Given the description of an element on the screen output the (x, y) to click on. 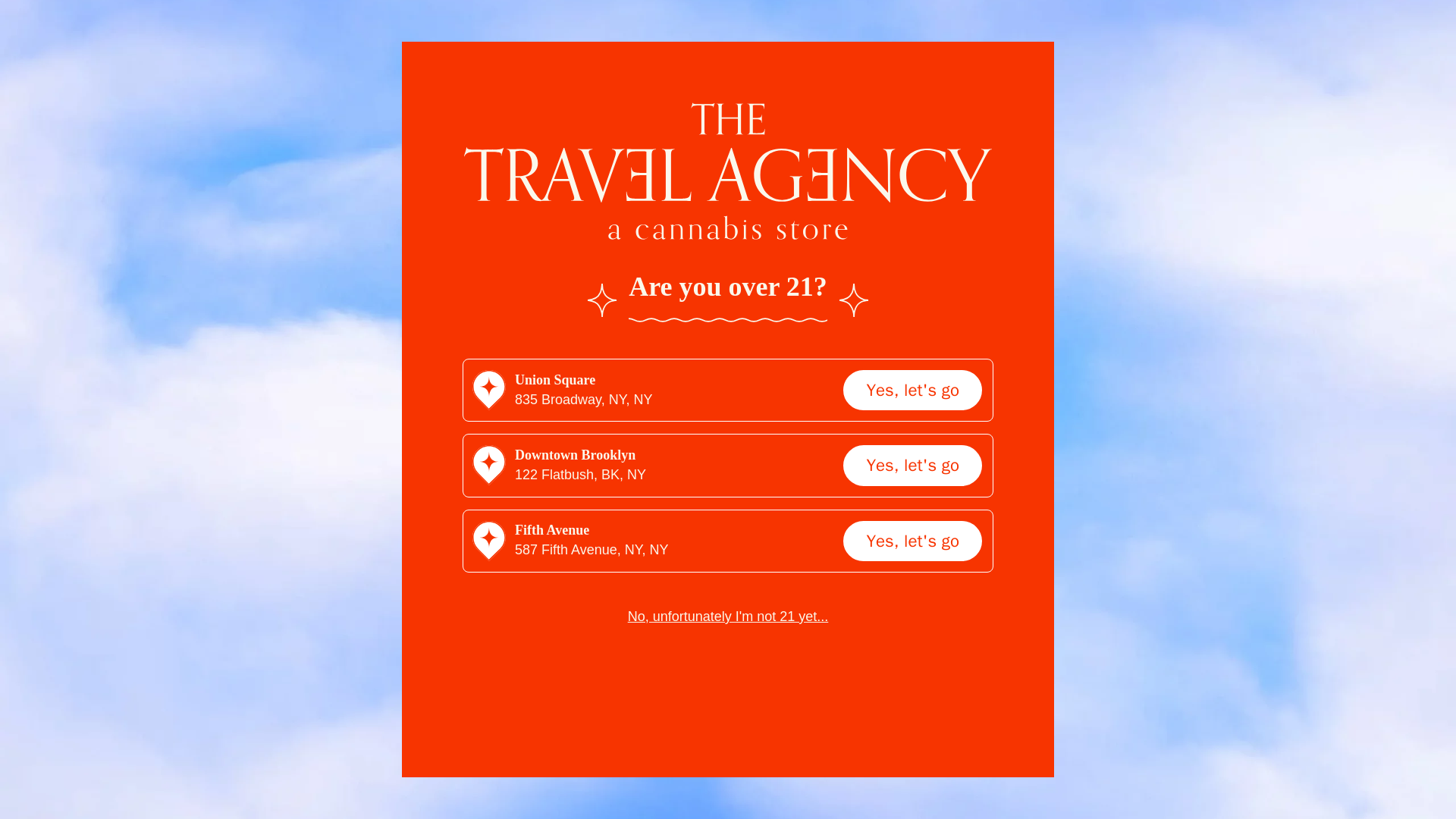
Pick up (241, 31)
Yes, let's go (912, 389)
Contact (532, 114)
Yes, let's go (912, 540)
Travel Club (442, 114)
Yes, let's go (912, 464)
Delivery (313, 31)
0 (1237, 114)
Shop (226, 114)
No, unfortunately I'm not 21 yet... (727, 617)
